Given the description of an element on the screen output the (x, y) to click on. 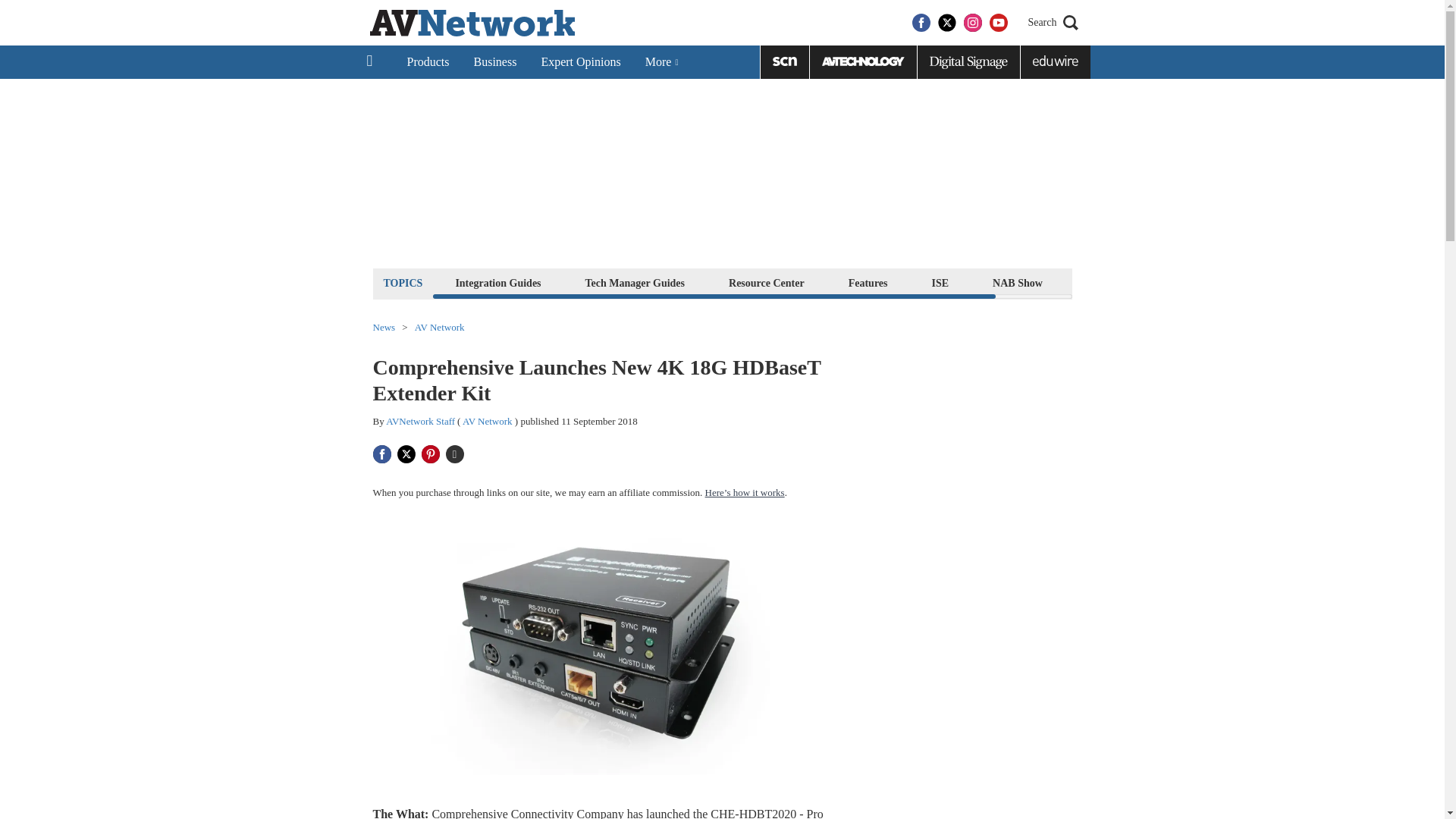
AV Network (439, 327)
Tech Manager Guides (634, 282)
Resource Center (766, 282)
NAB Show (1017, 282)
AV Network (487, 420)
Integration Guides (497, 282)
Products (427, 61)
Business (494, 61)
ISE (940, 282)
Features (868, 282)
